Given the description of an element on the screen output the (x, y) to click on. 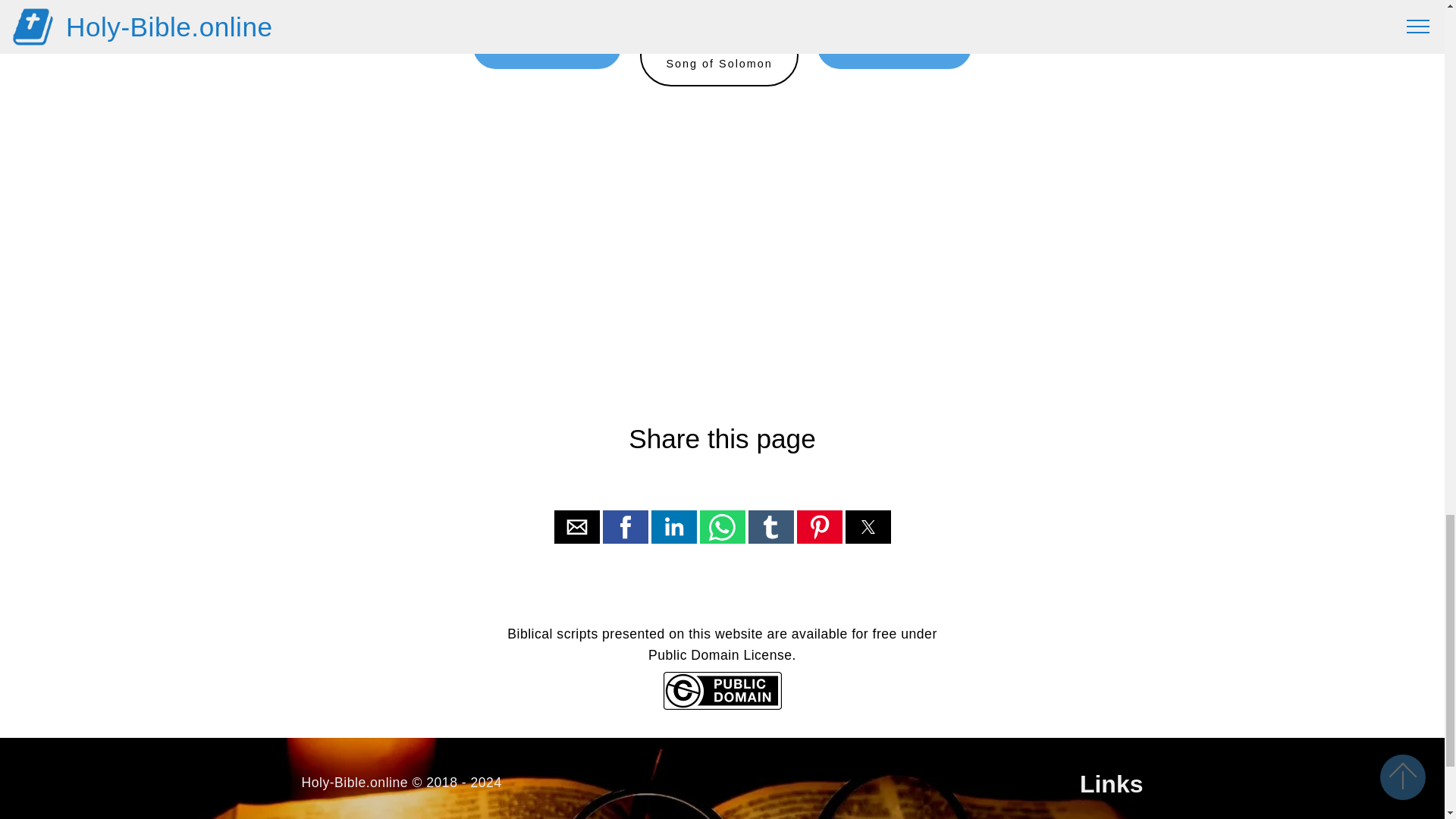
CHAPTER LIST (547, 46)
Home (718, 55)
